Given the description of an element on the screen output the (x, y) to click on. 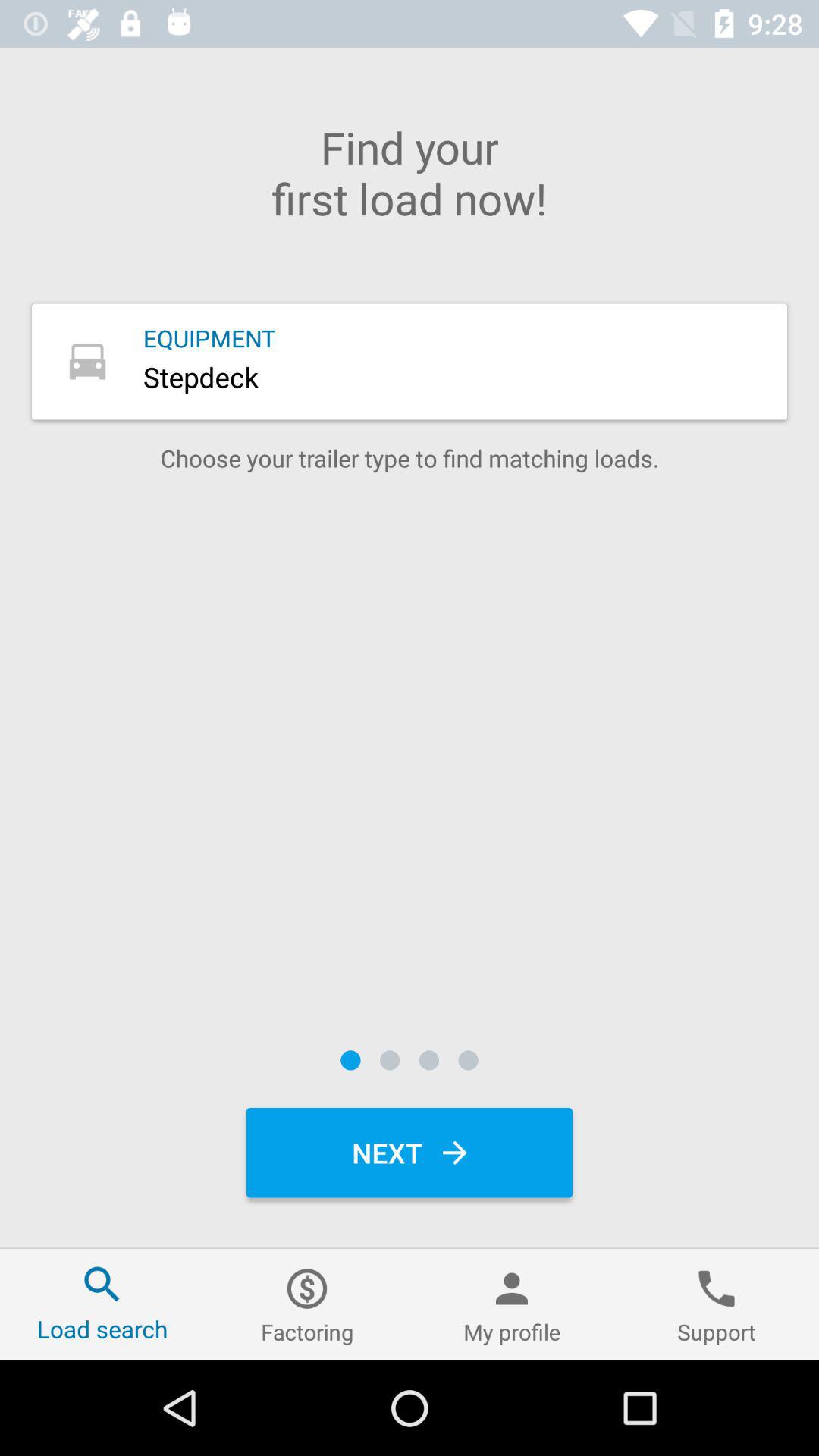
swipe to the next (409, 1152)
